Given the description of an element on the screen output the (x, y) to click on. 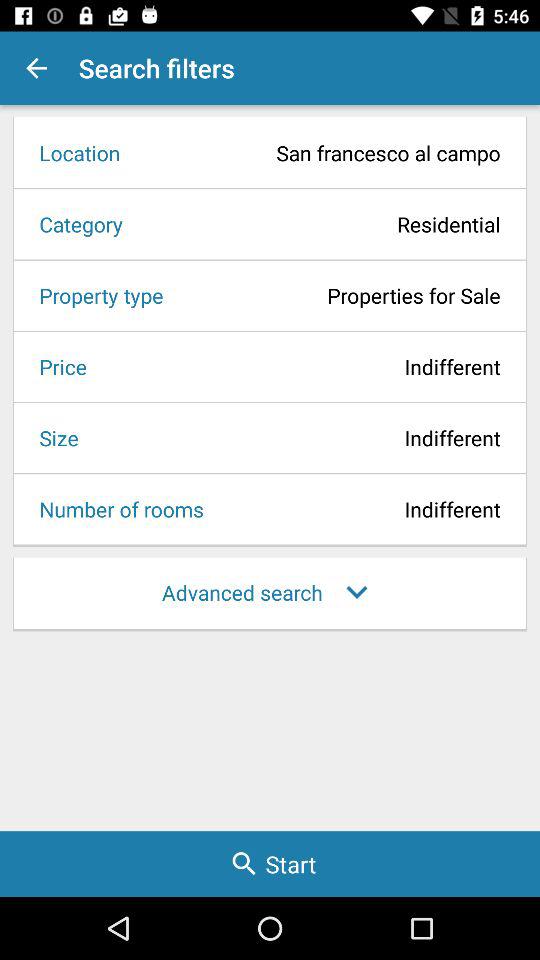
select item to the left of the search filters item (36, 68)
